Given the description of an element on the screen output the (x, y) to click on. 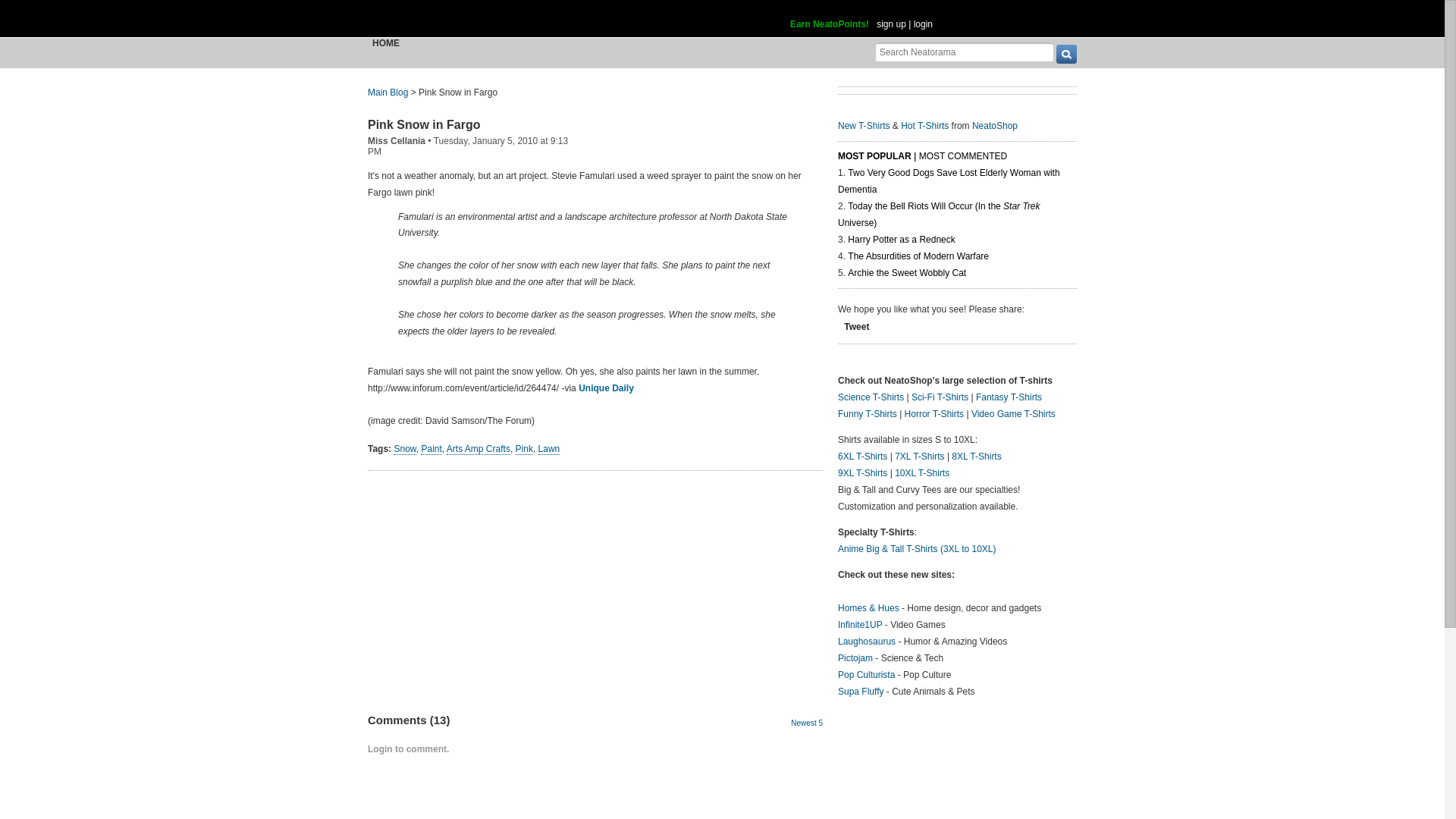
Lawn (549, 449)
Snow (403, 449)
Neatorama Front Page (387, 92)
Pink (523, 449)
login (923, 24)
Pink (523, 449)
HOME (386, 43)
Earn NeatoPoints! (829, 24)
Miss Cellania (396, 141)
login (923, 24)
